Given the description of an element on the screen output the (x, y) to click on. 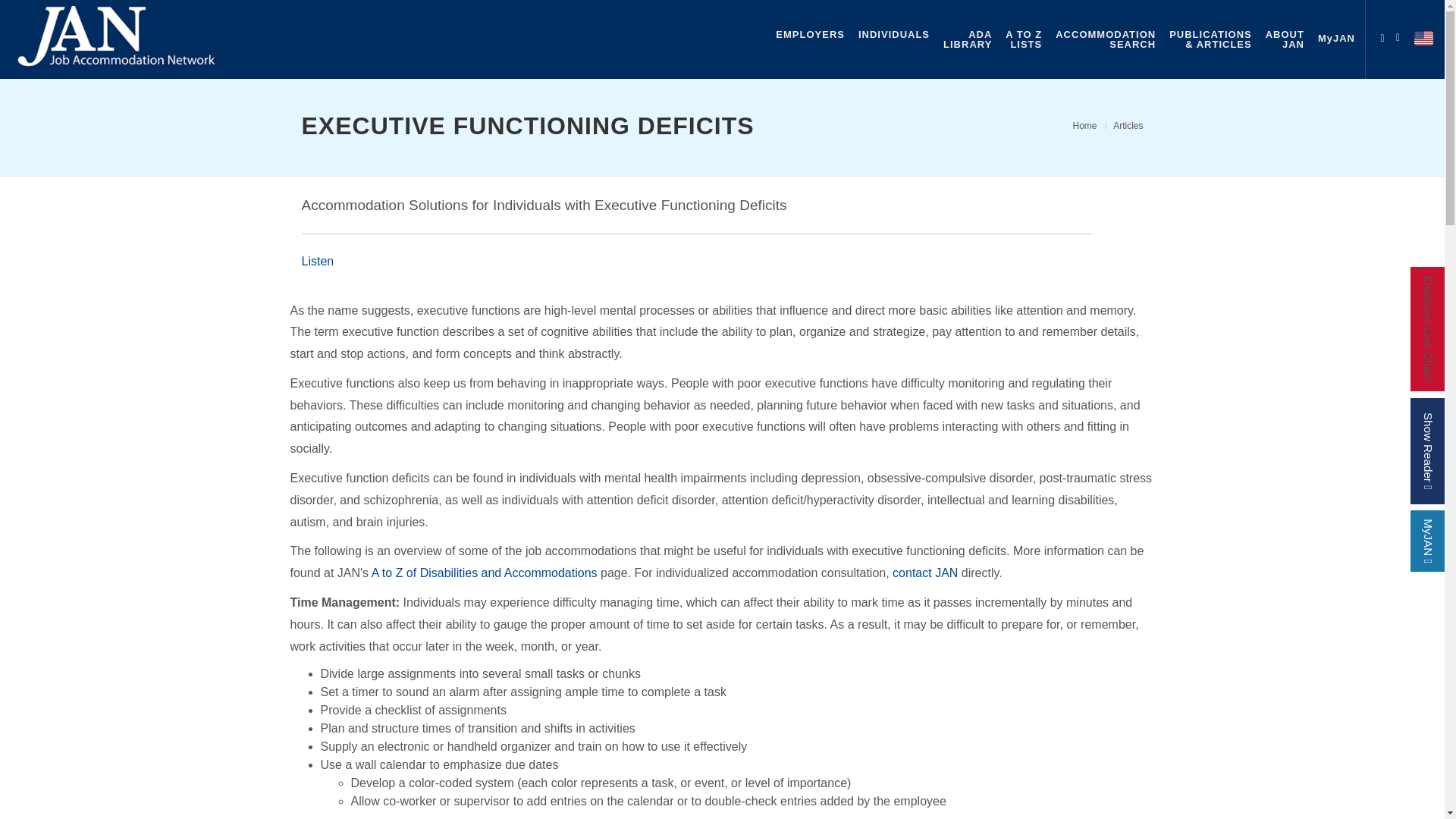
A to Z of Disabilities and Accommodations (483, 572)
contact JAN (925, 572)
Listen (317, 260)
Open Menu (1382, 35)
EMPLOYERS (810, 34)
Home (1083, 125)
Articles (1105, 39)
Open Search (1127, 125)
INDIVIDUALS (1401, 35)
